Given the description of an element on the screen output the (x, y) to click on. 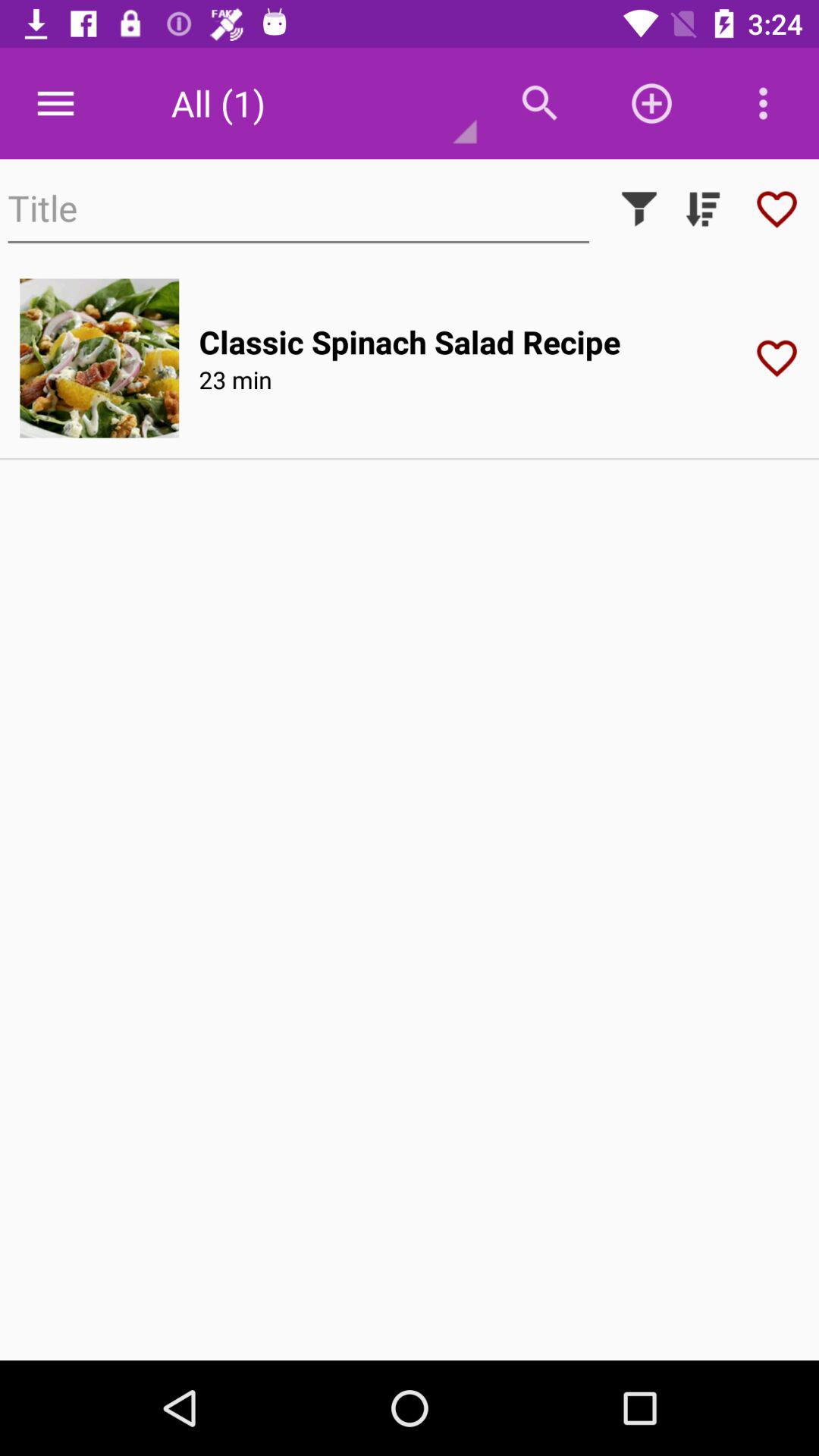
show the recipe you liked (776, 208)
